Given the description of an element on the screen output the (x, y) to click on. 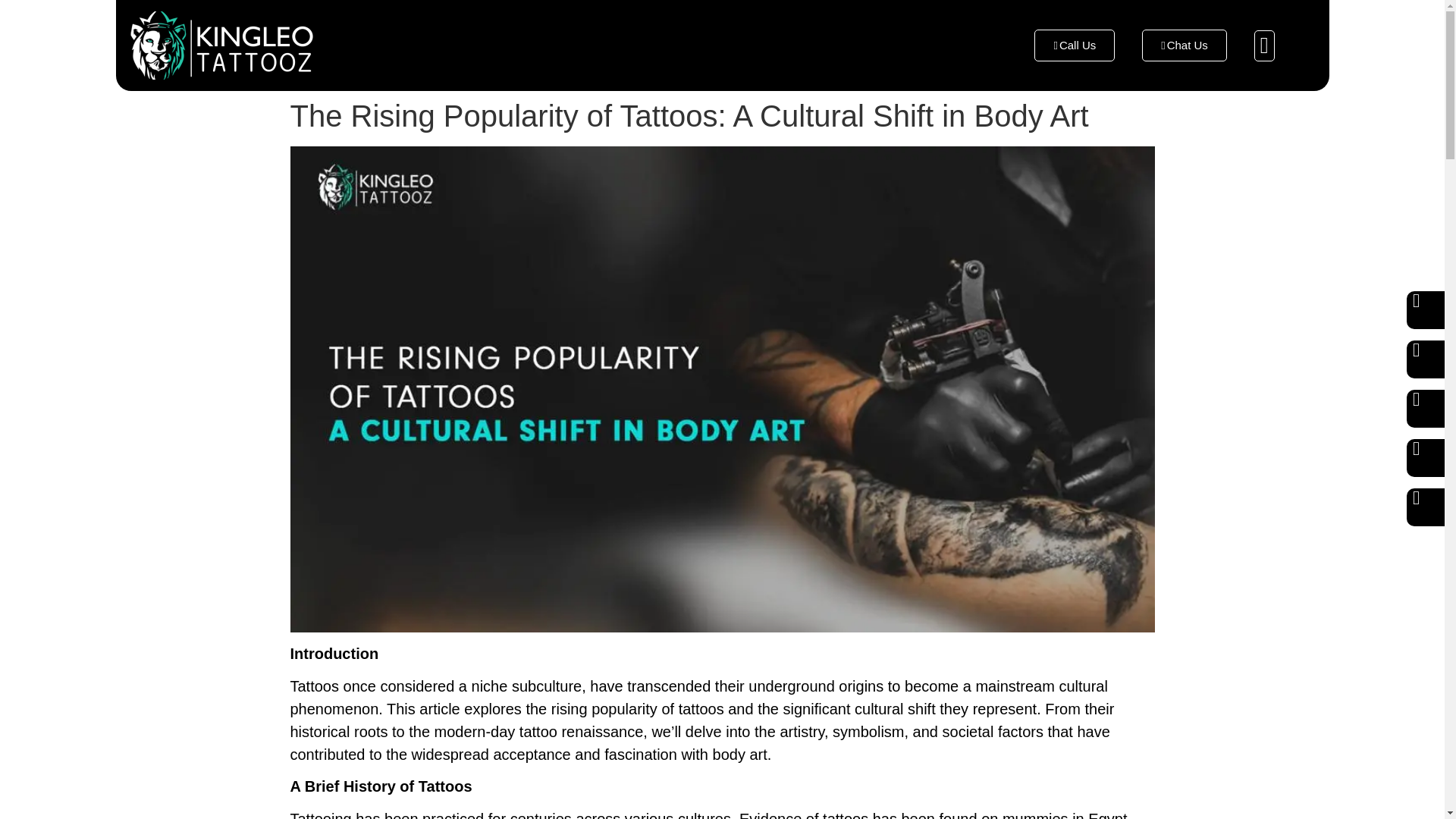
Call Us (1074, 45)
Logo (222, 45)
Chat Us (1184, 45)
